Given the description of an element on the screen output the (x, y) to click on. 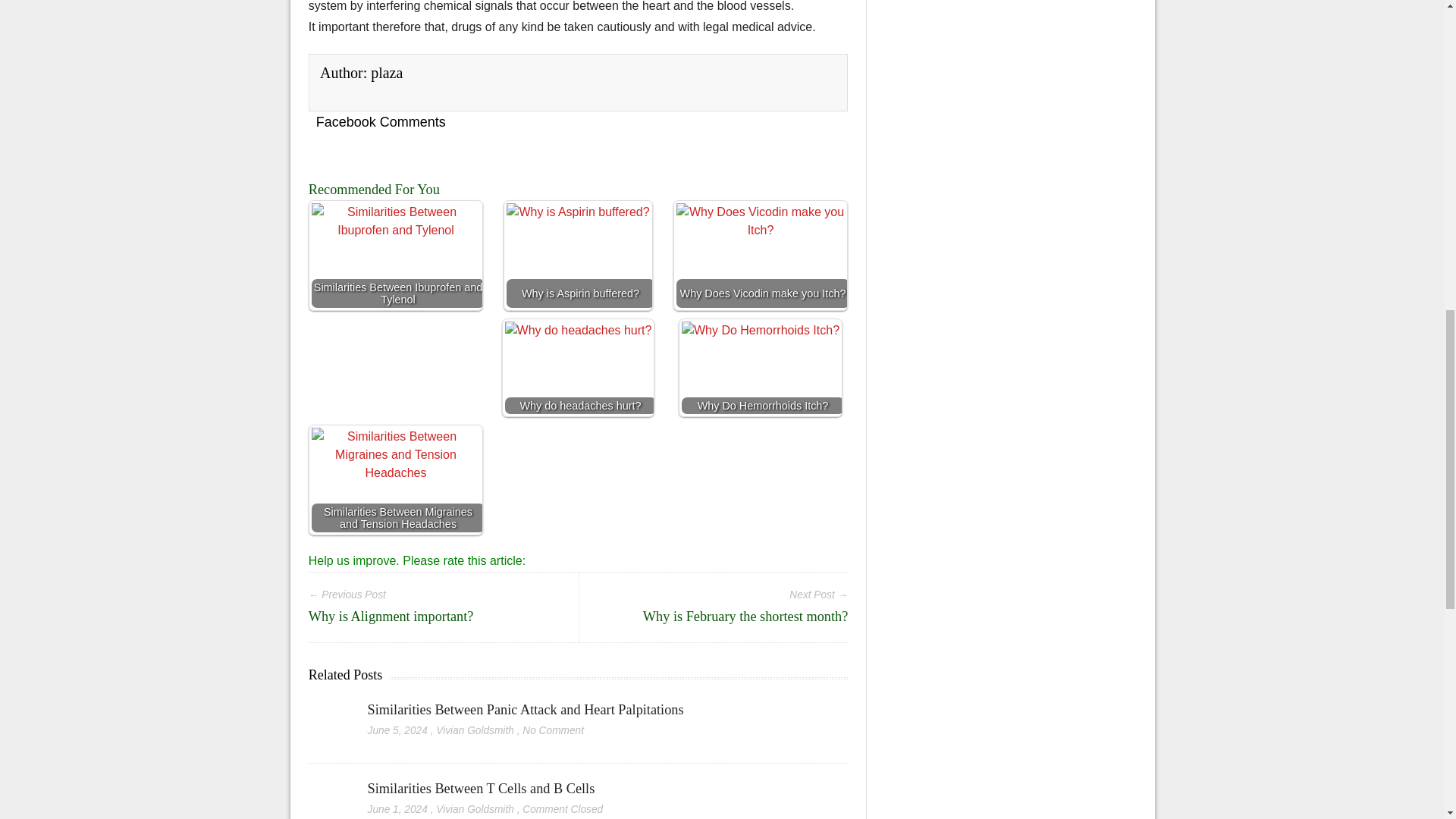
Similarities Between Panic Attack and Heart Palpitations (526, 709)
Similarities Between Migraines and Tension Headaches (395, 479)
Why do headaches hurt? (577, 367)
Similarities Between Panic Attack and Heart Palpitations (329, 710)
Posts by Vivian Goldsmith (474, 730)
Why Does Vicodin make you Itch? (761, 266)
Similarities Between T Cells and B Cells (481, 788)
Posts by Vivian Goldsmith (474, 808)
Why Do Hemorrhoids Itch? (760, 380)
Similarities Between T Cells and B Cells (481, 788)
Why do headaches hurt? (578, 376)
No Comment (552, 730)
Similarities Between Migraines and Tension Headaches (395, 490)
Similarities Between T Cells and B Cells (329, 789)
Why is Aspirin buffered? (576, 255)
